Given the description of an element on the screen output the (x, y) to click on. 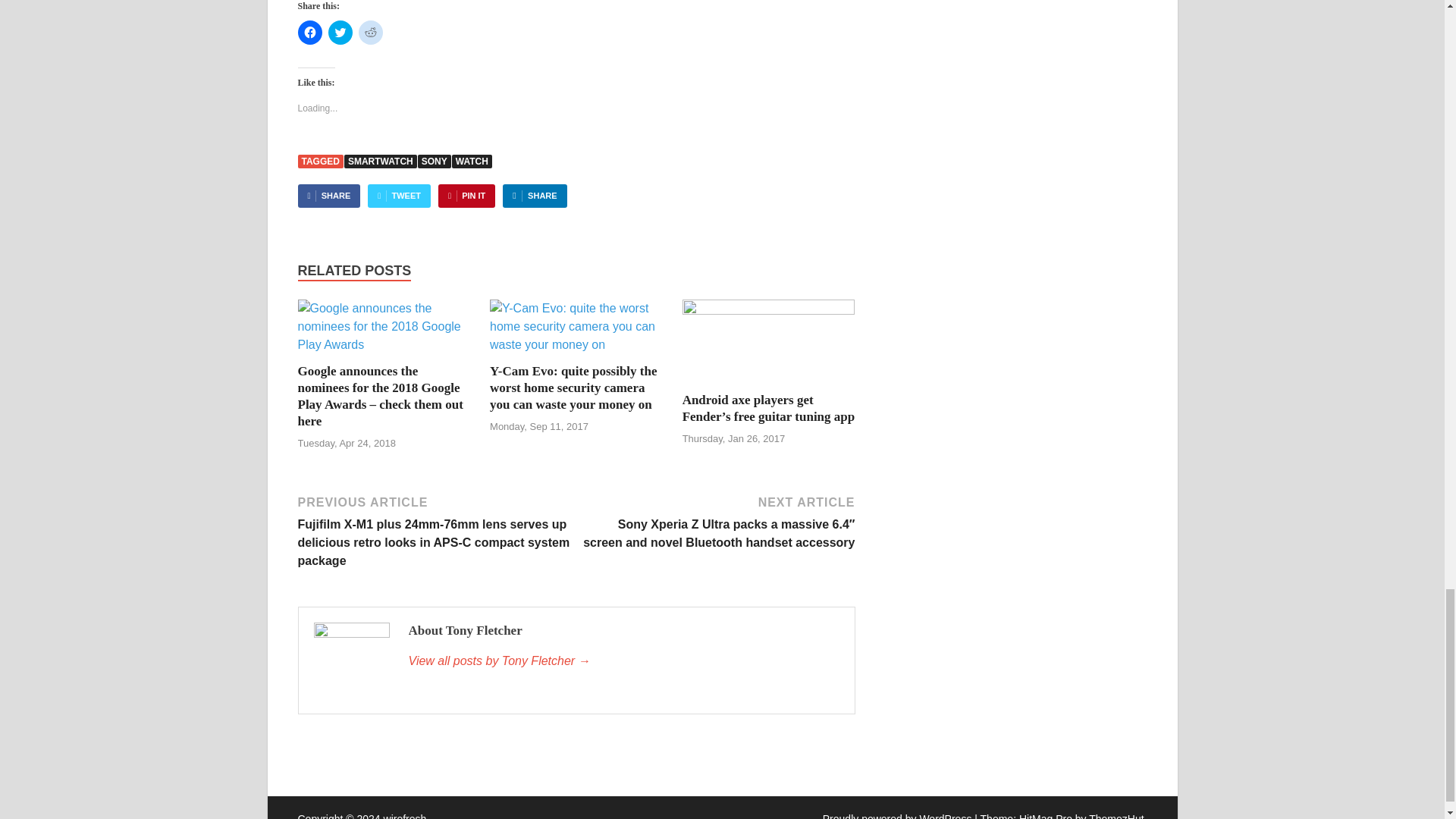
SMARTWATCH (379, 161)
SONY (434, 161)
Click to share on Facebook (309, 32)
Click to share on Twitter (339, 32)
PIN IT (466, 196)
TWEET (399, 196)
Click to share on Reddit (369, 32)
